Given the description of an element on the screen output the (x, y) to click on. 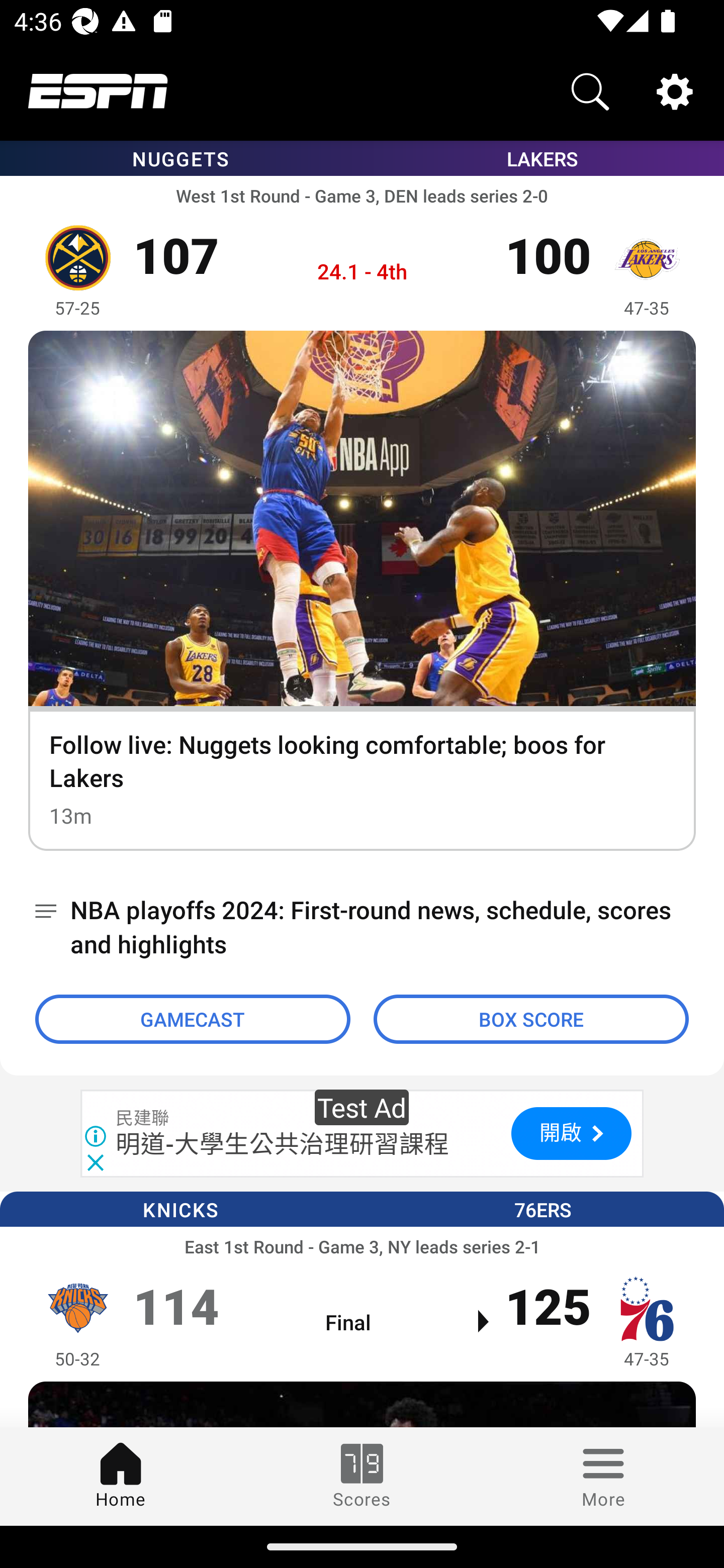
Search (590, 90)
Settings (674, 90)
GAMECAST (192, 1019)
BOX SCORE (530, 1019)
Scores (361, 1475)
More (603, 1475)
